Given the description of an element on the screen output the (x, y) to click on. 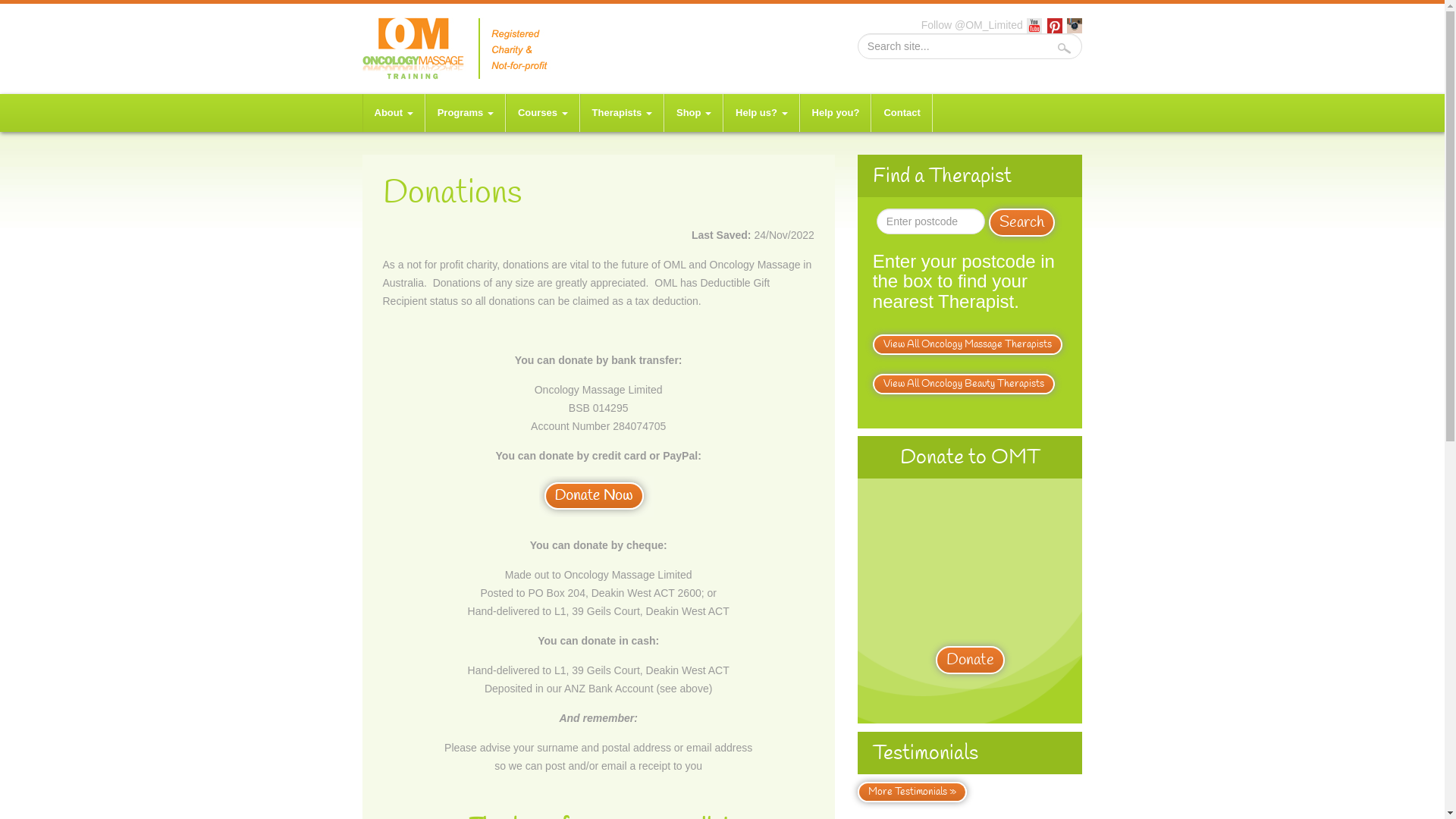
Programs Element type: text (465, 112)
Therapists Element type: text (622, 112)
PayPal - The safer, easier way to pay online! Element type: hover (596, 496)
View All Oncology Massage Therapists Element type: text (967, 344)
Donate Element type: text (969, 660)
Help you? Element type: text (836, 112)
About Element type: text (393, 112)
Shop Element type: text (693, 112)
Courses Element type: text (542, 112)
View All Oncology Beauty Therapists Element type: text (963, 383)
Search Element type: text (1021, 222)
Help us? Element type: text (761, 112)
Contact Element type: text (901, 112)
Home Element type: hover (458, 47)
Follow @OM_Limited Element type: text (971, 24)
